Given the description of an element on the screen output the (x, y) to click on. 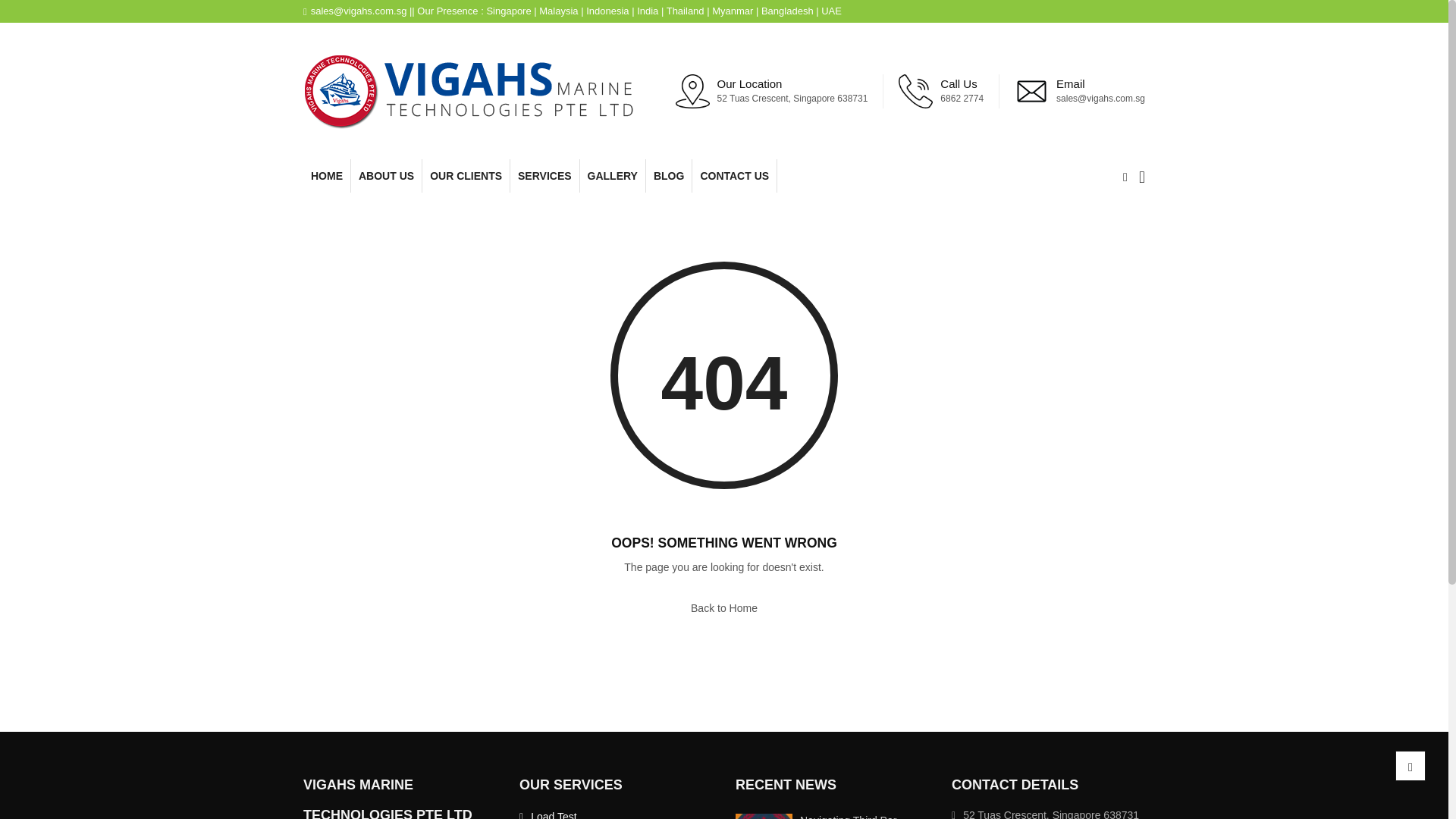
GALLERY (612, 175)
CONTACT US (734, 175)
ABOUT US (386, 175)
SERVICES (545, 175)
BLOG (668, 175)
HOME (326, 175)
OUR CLIENTS (465, 175)
Vigahs Marine Technologies Pte Ltd (471, 90)
